Given the description of an element on the screen output the (x, y) to click on. 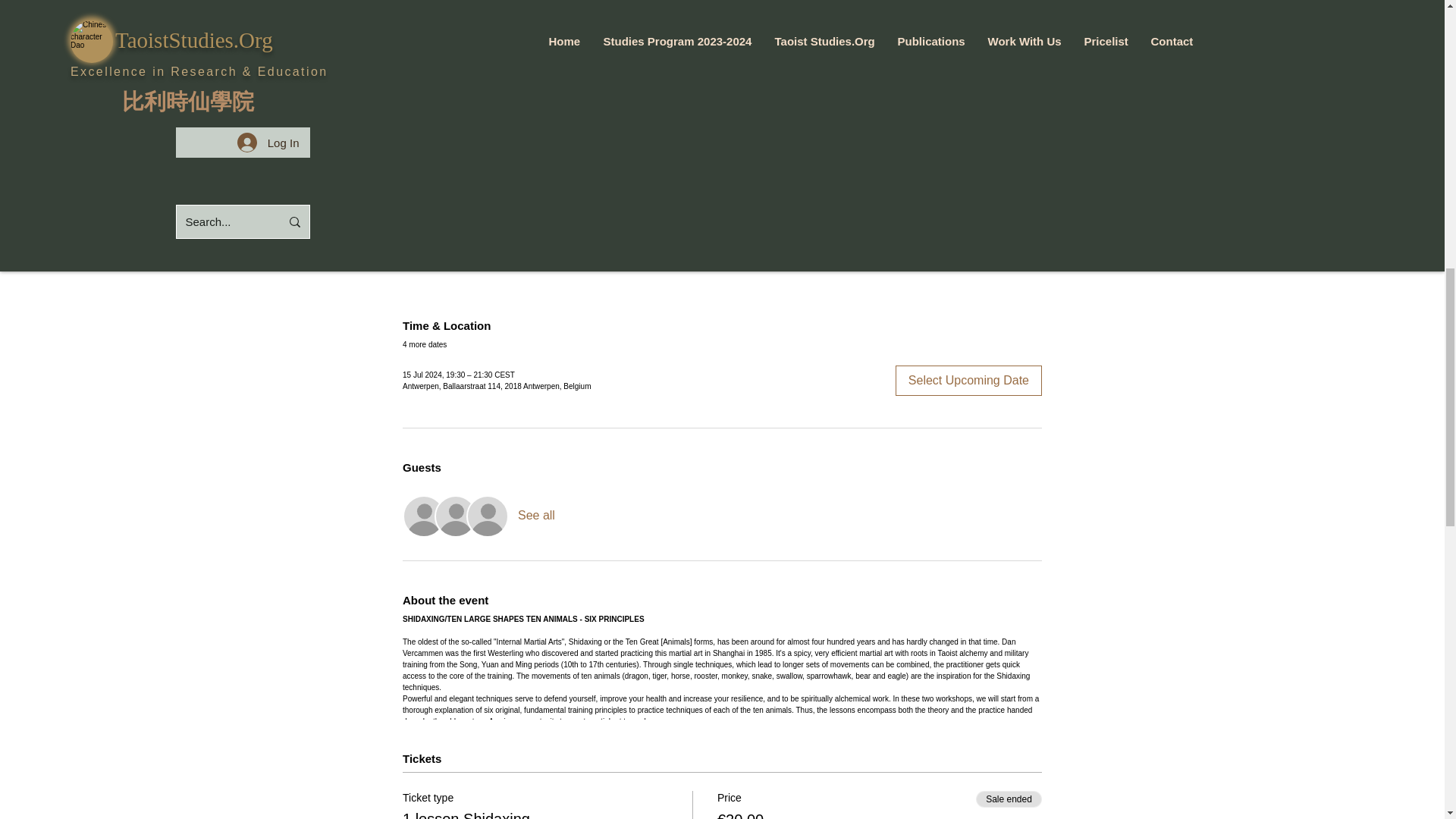
See all (536, 515)
Select Upcoming Date (968, 380)
